Given the description of an element on the screen output the (x, y) to click on. 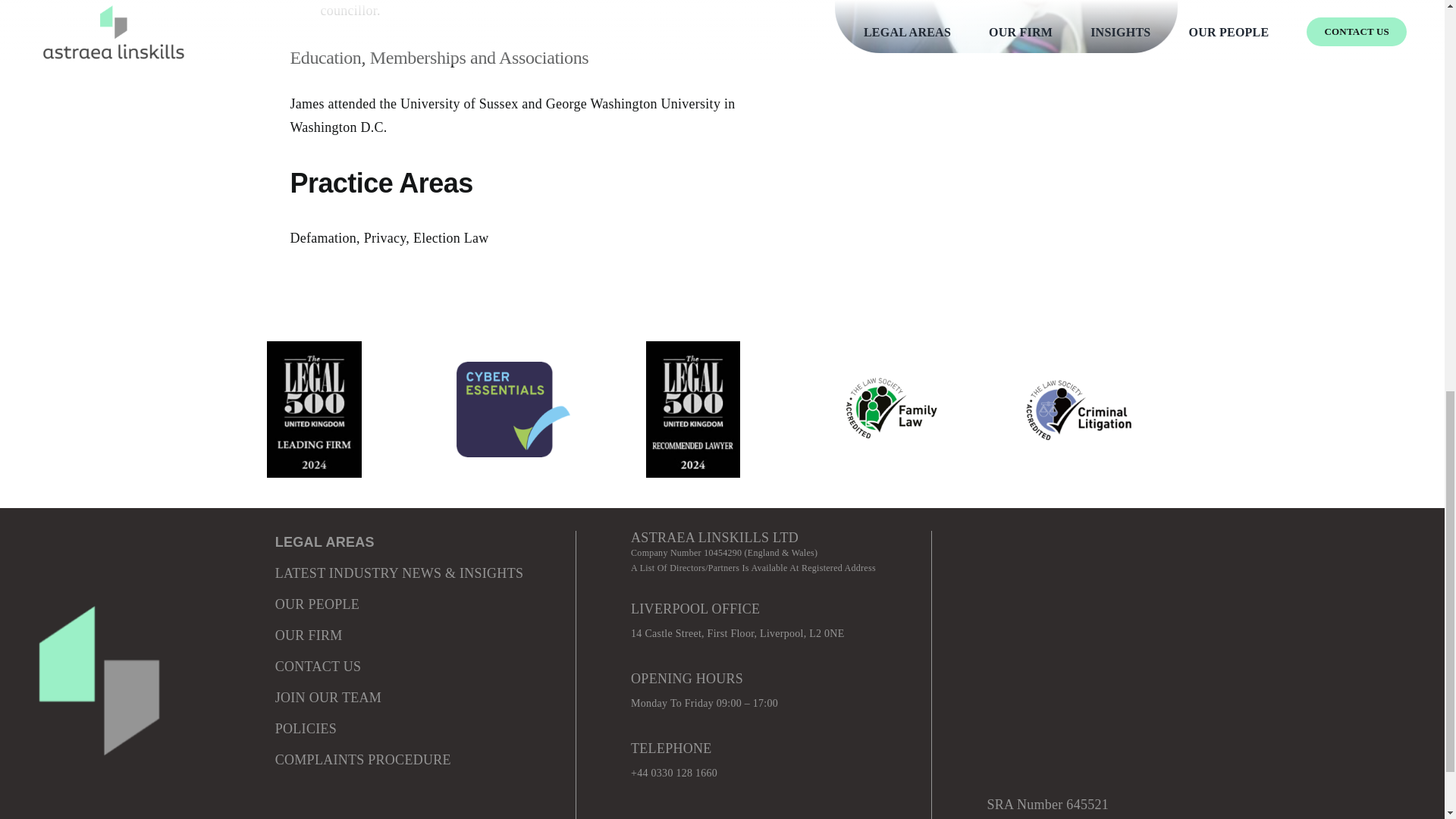
OUR PEOPLE (317, 604)
Cyber Essential (513, 409)
Criminal Litigation (1081, 409)
James Roochove (1005, 26)
LEGAL AREAS (324, 541)
family law (891, 409)
